Given the description of an element on the screen output the (x, y) to click on. 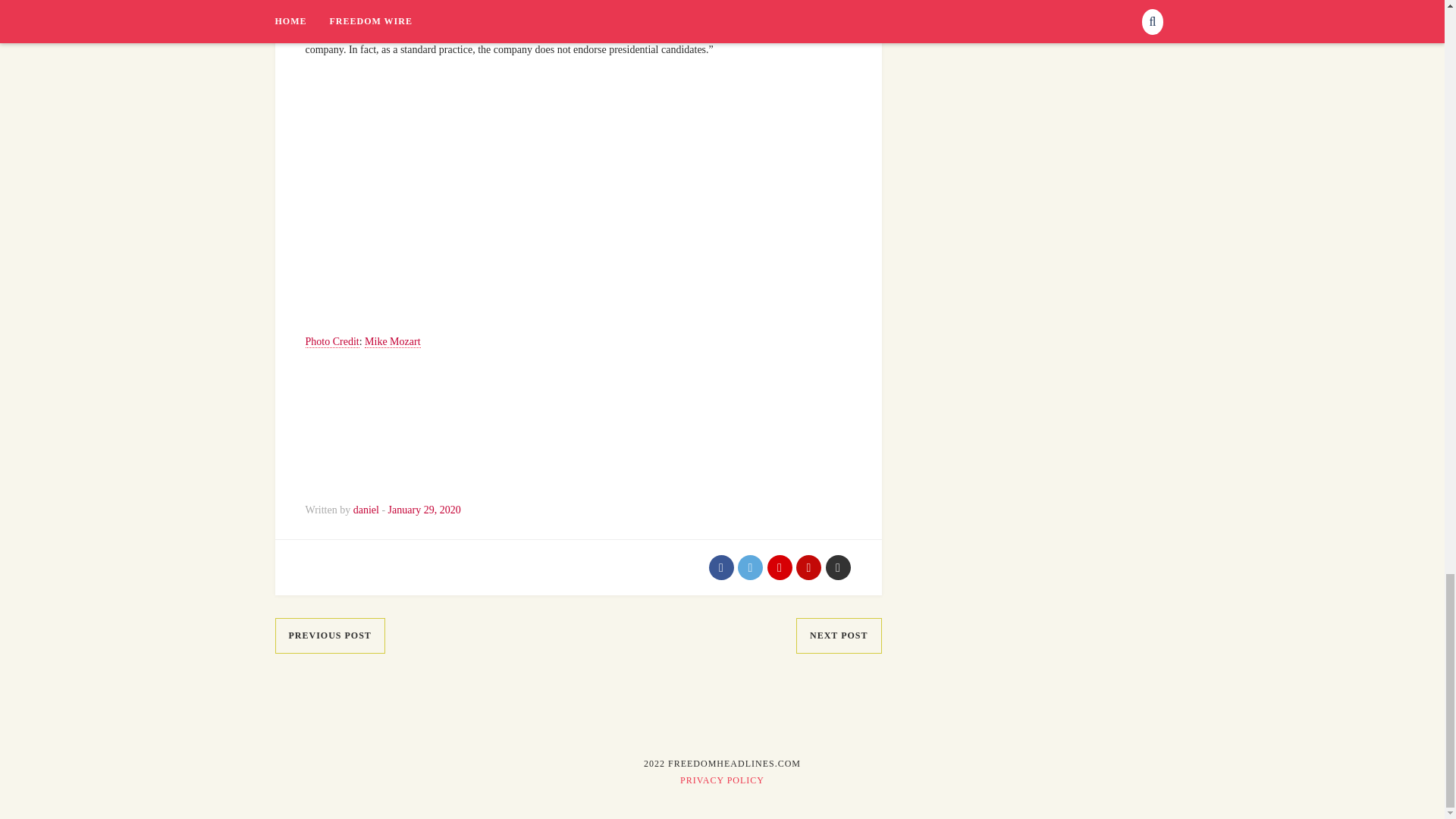
Mike Mozart (392, 341)
NEXT POST (838, 635)
PREVIOUS POST (329, 635)
Photo Credit (331, 341)
